Given the description of an element on the screen output the (x, y) to click on. 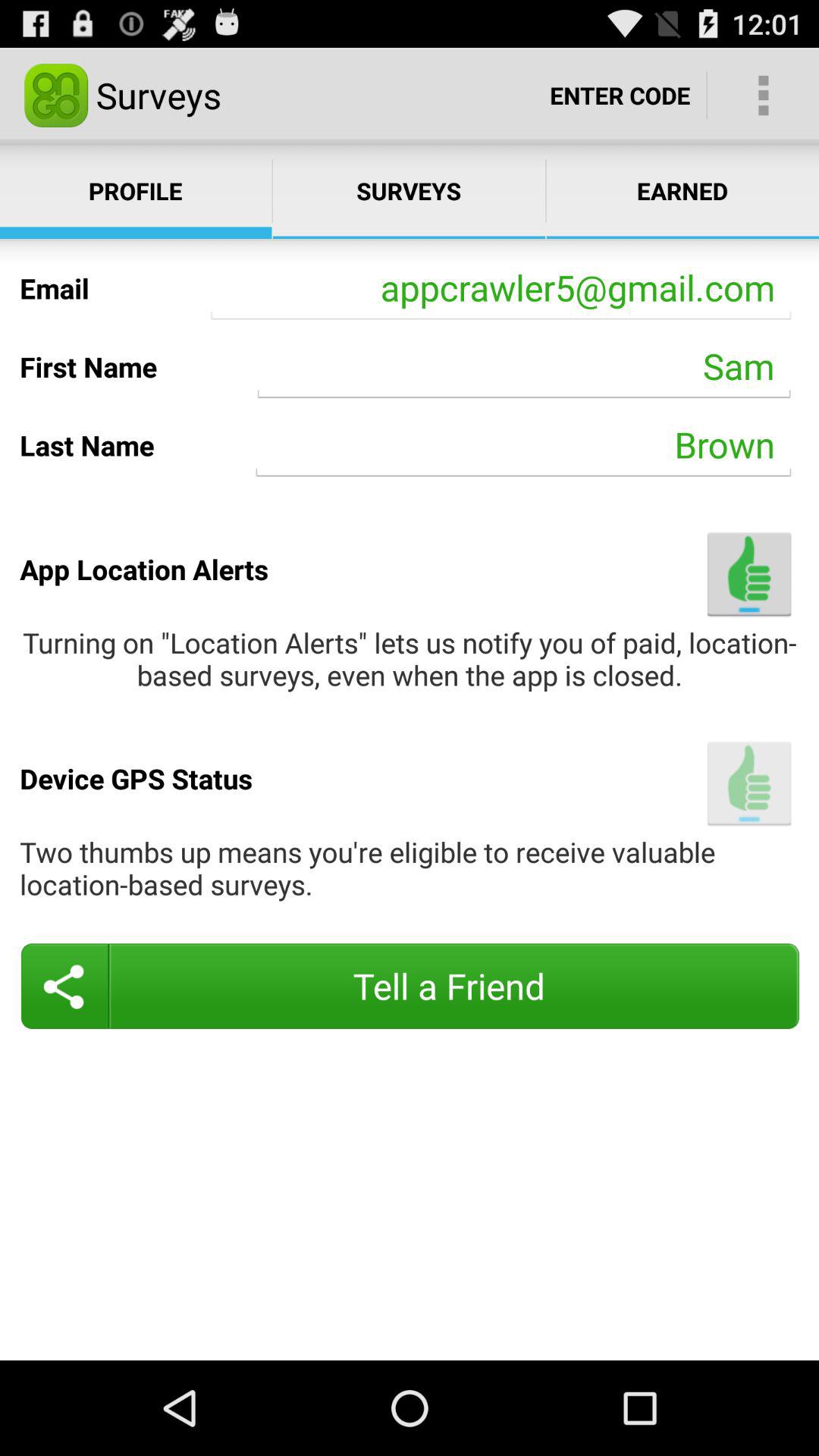
turn on location alerts (749, 573)
